Given the description of an element on the screen output the (x, y) to click on. 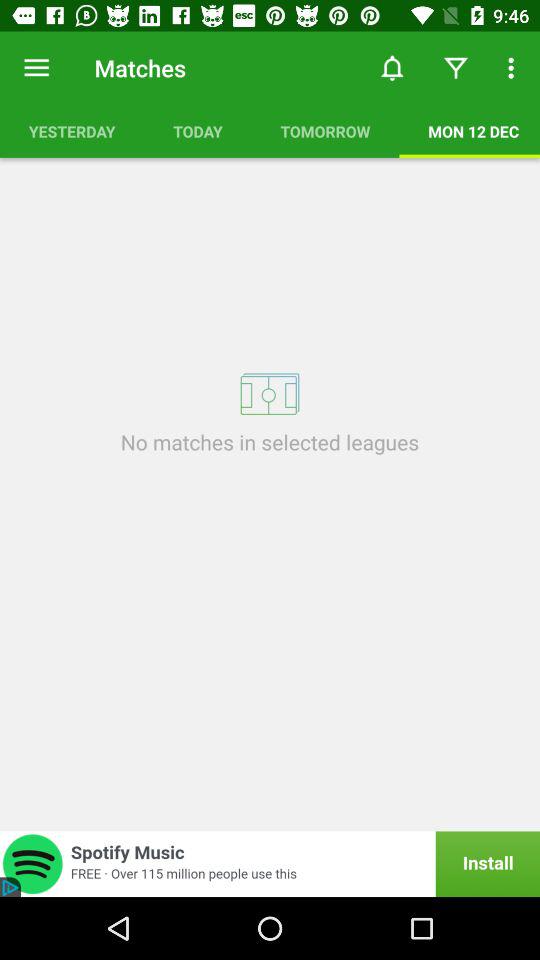
turn on the today item (197, 131)
